Given the description of an element on the screen output the (x, y) to click on. 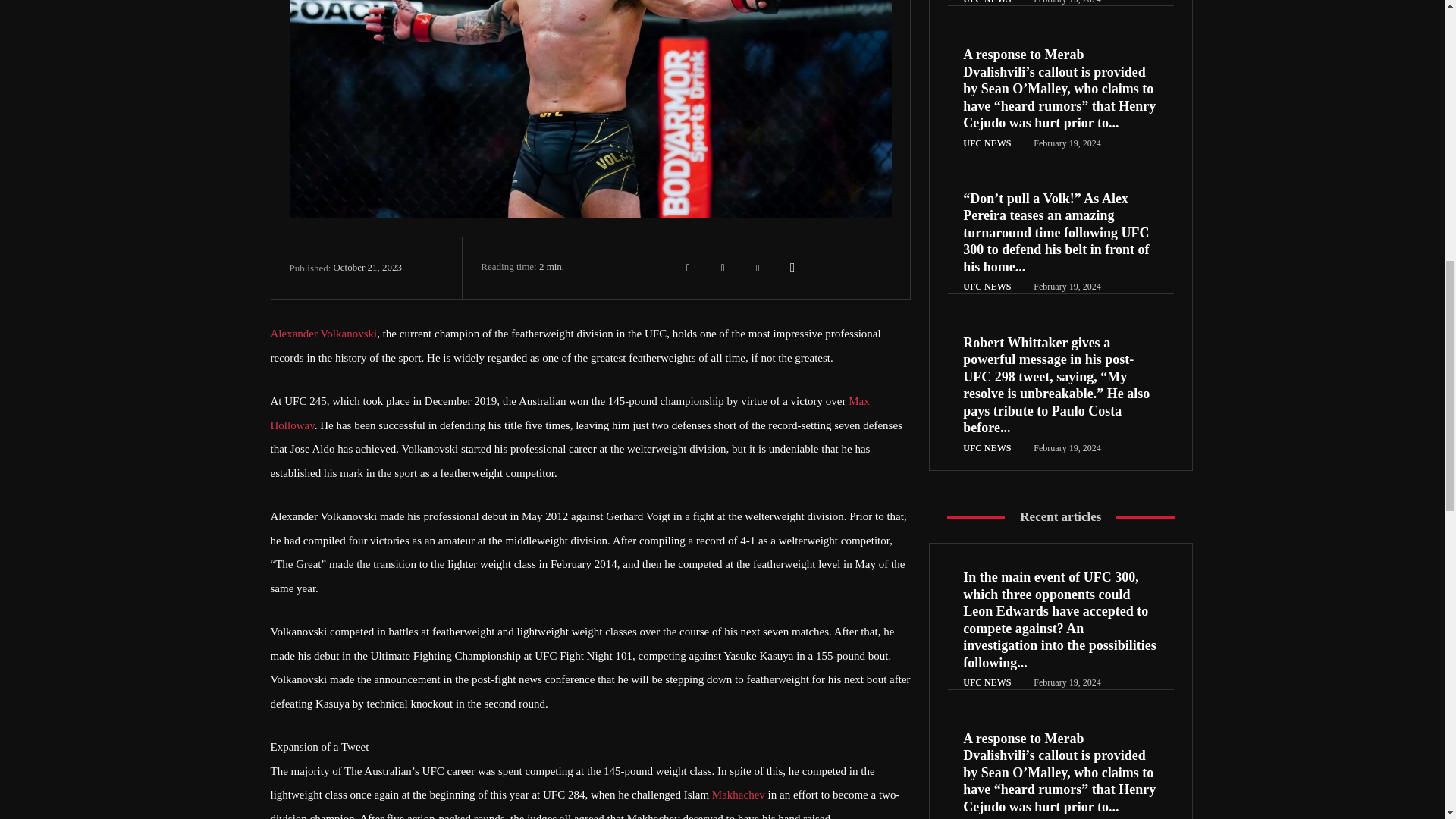
Alexander Volkanovski (323, 333)
Facebook (687, 267)
Pinterest (757, 267)
3596b-16978691483665-1920 (590, 109)
Twitter (722, 267)
WhatsApp (792, 267)
